Given the description of an element on the screen output the (x, y) to click on. 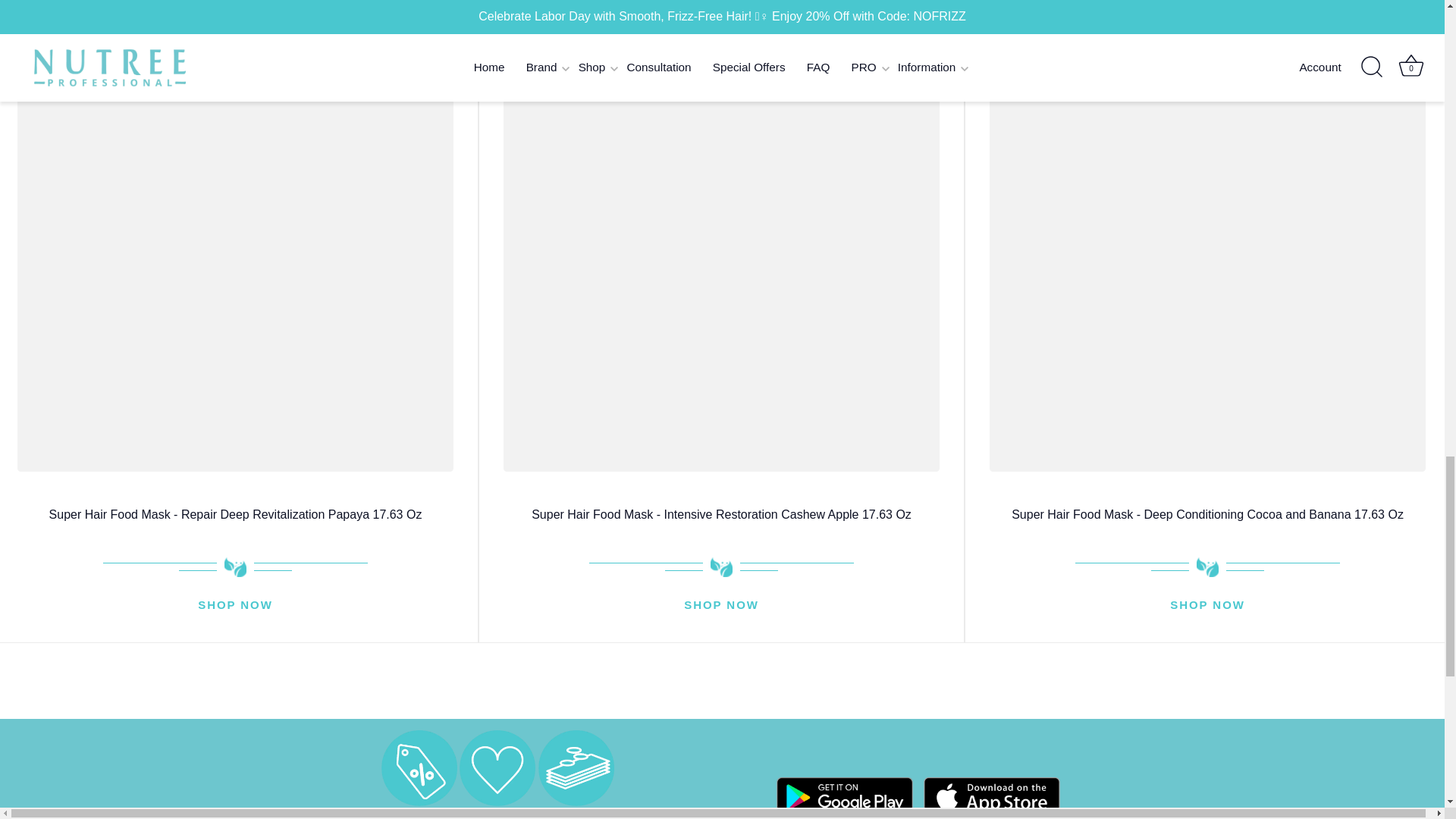
Shop Now (1207, 605)
Shop Now (234, 605)
Shop Now (721, 605)
